Given the description of an element on the screen output the (x, y) to click on. 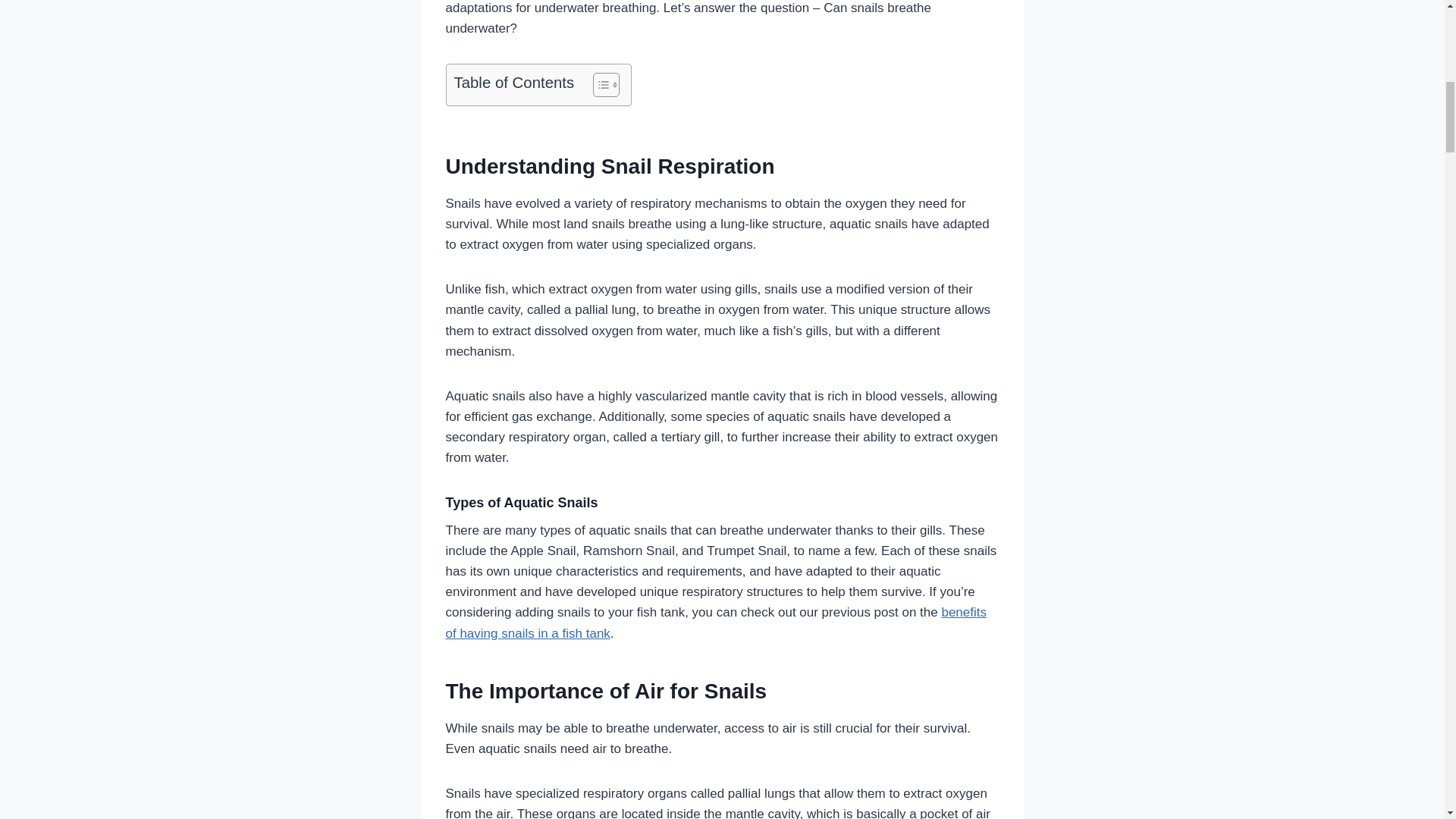
benefits of having snails in a fish tank (716, 622)
